Given the description of an element on the screen output the (x, y) to click on. 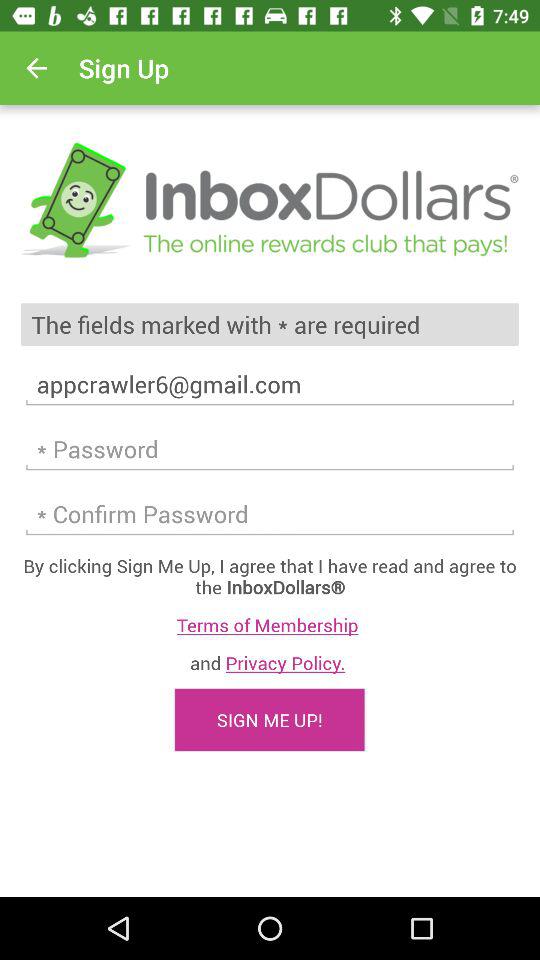
select the text box which is above the password (269, 384)
